Given the description of an element on the screen output the (x, y) to click on. 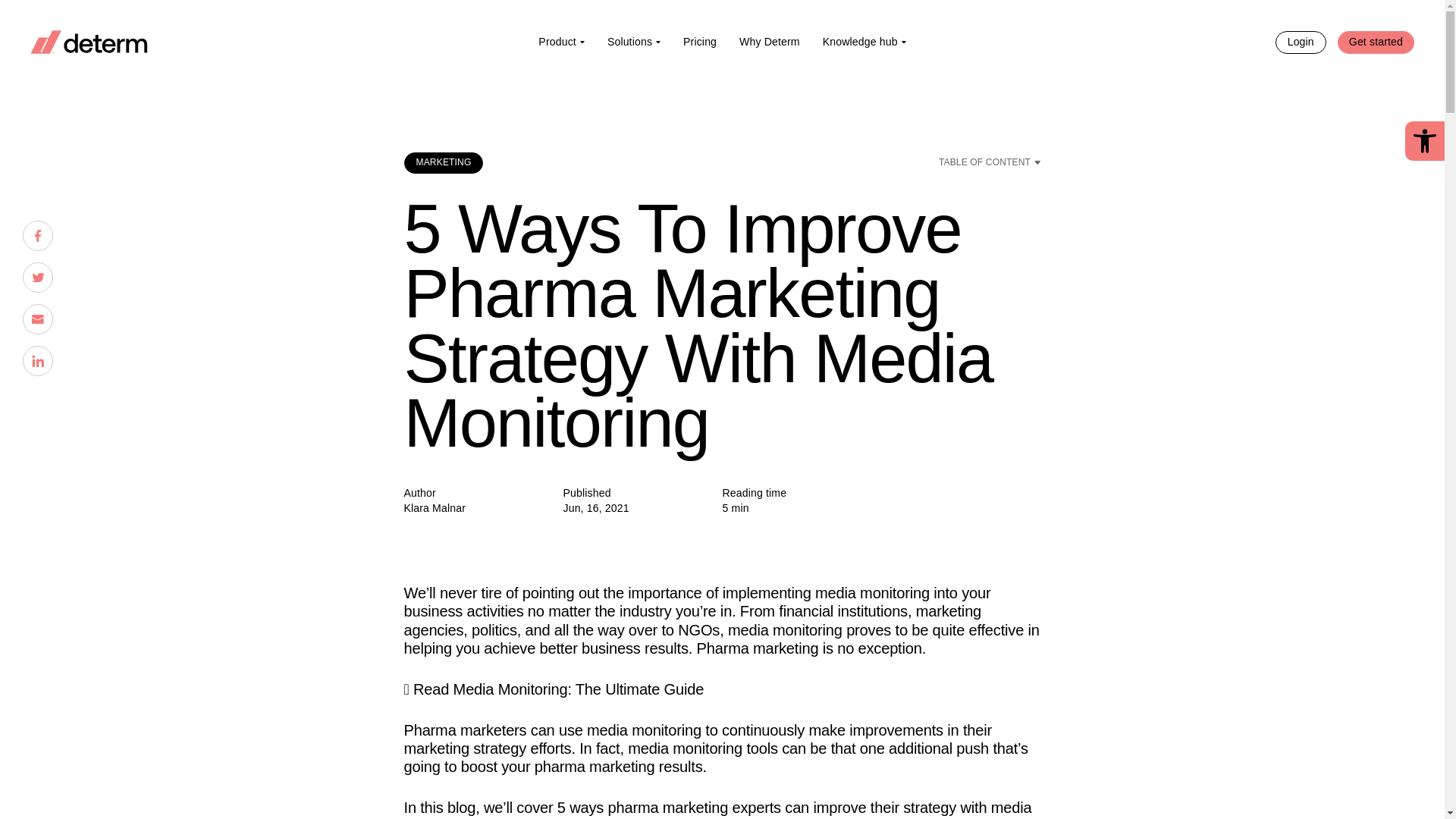
Pricing (699, 41)
Solutions (633, 41)
Knowledge hub (863, 41)
Why Determ (769, 41)
Login (1300, 41)
Product (561, 41)
Get started (1375, 41)
